Given the description of an element on the screen output the (x, y) to click on. 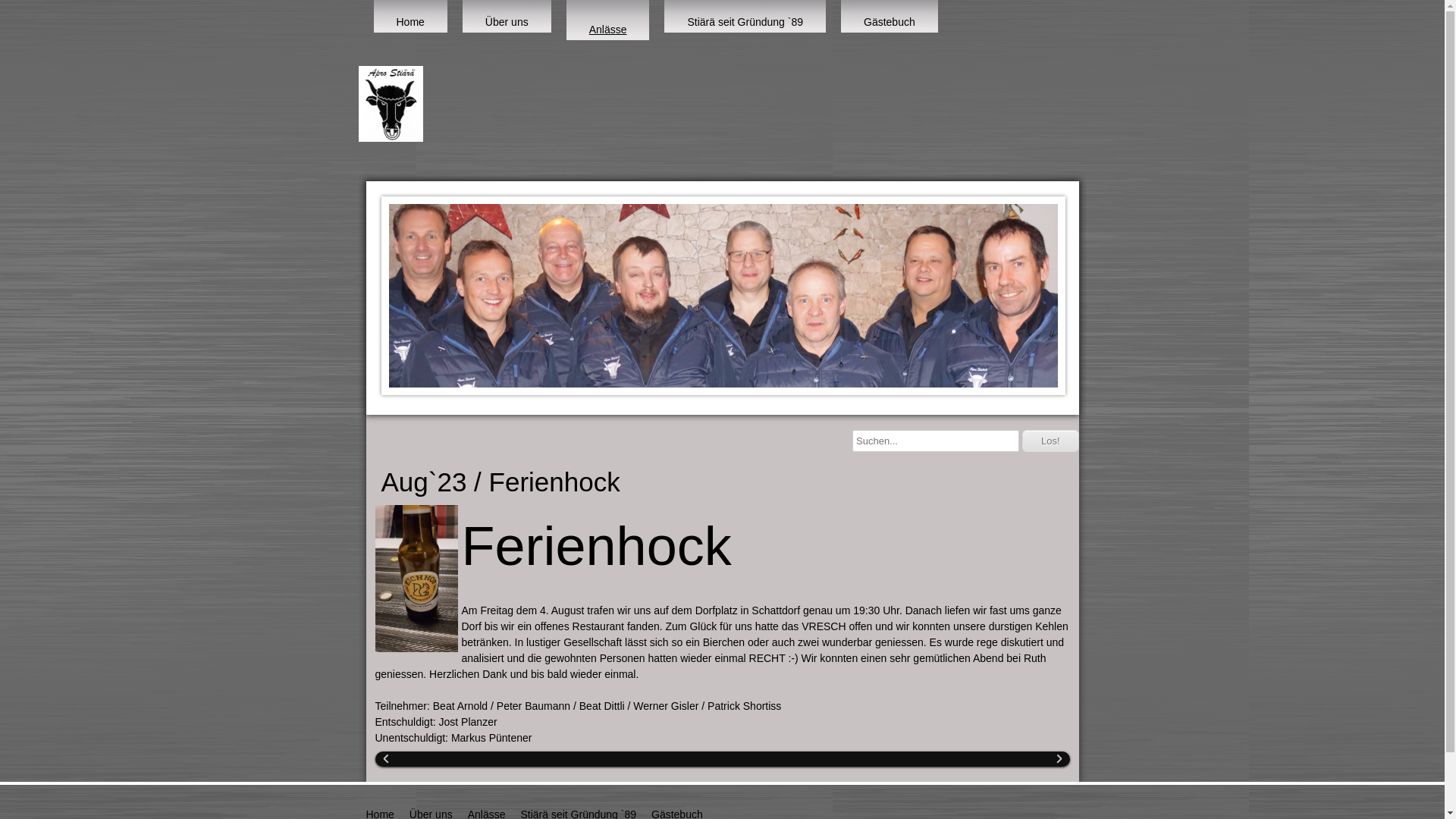
Los! Element type: text (1050, 440)
Home Element type: text (409, 16)
